Given the description of an element on the screen output the (x, y) to click on. 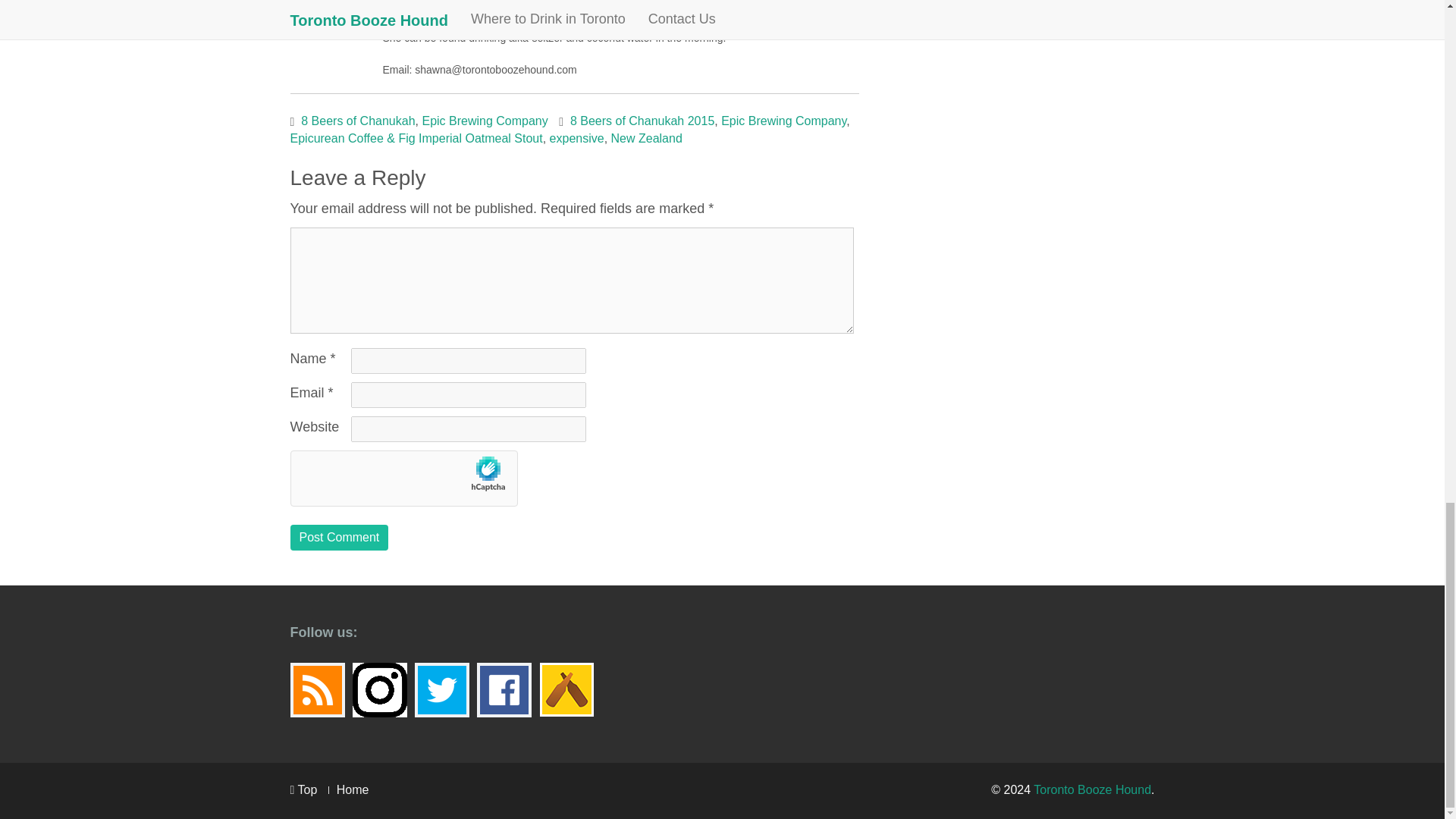
Home (352, 789)
Epic Brewing Company (782, 120)
New Zealand (646, 137)
Post Comment (338, 537)
Post Comment (338, 537)
Back to top of page (303, 789)
8 Beers of Chanukah (357, 120)
8 Beers of Chanukah 2015 (642, 120)
Epic Brewing Company (484, 120)
expensive (577, 137)
Top (303, 789)
